Given the description of an element on the screen output the (x, y) to click on. 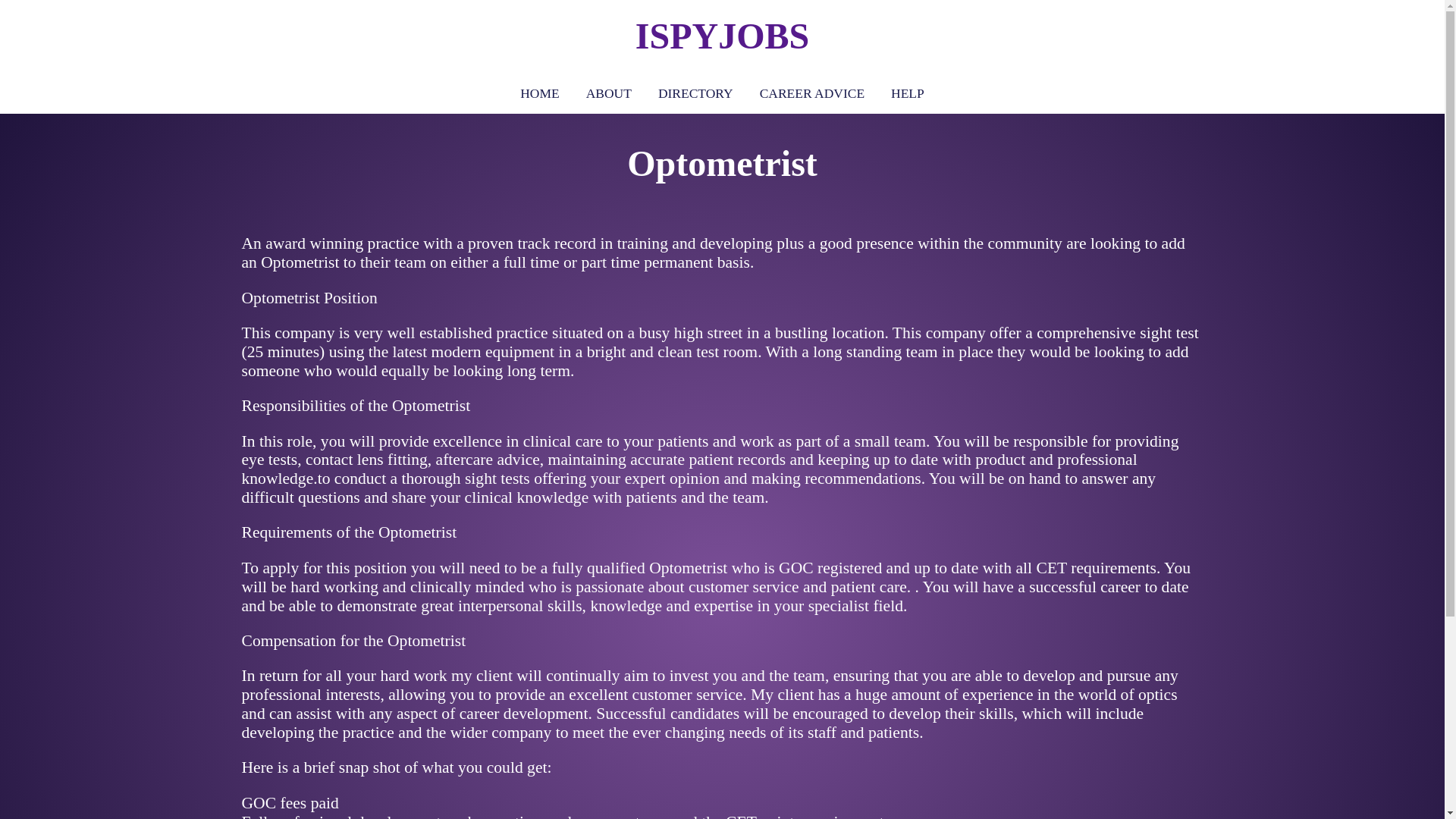
ISPYJOBS (722, 36)
HELP (907, 92)
DIRECTORY (695, 92)
CAREER ADVICE (811, 92)
HOME (539, 92)
ABOUT (608, 92)
